Given the description of an element on the screen output the (x, y) to click on. 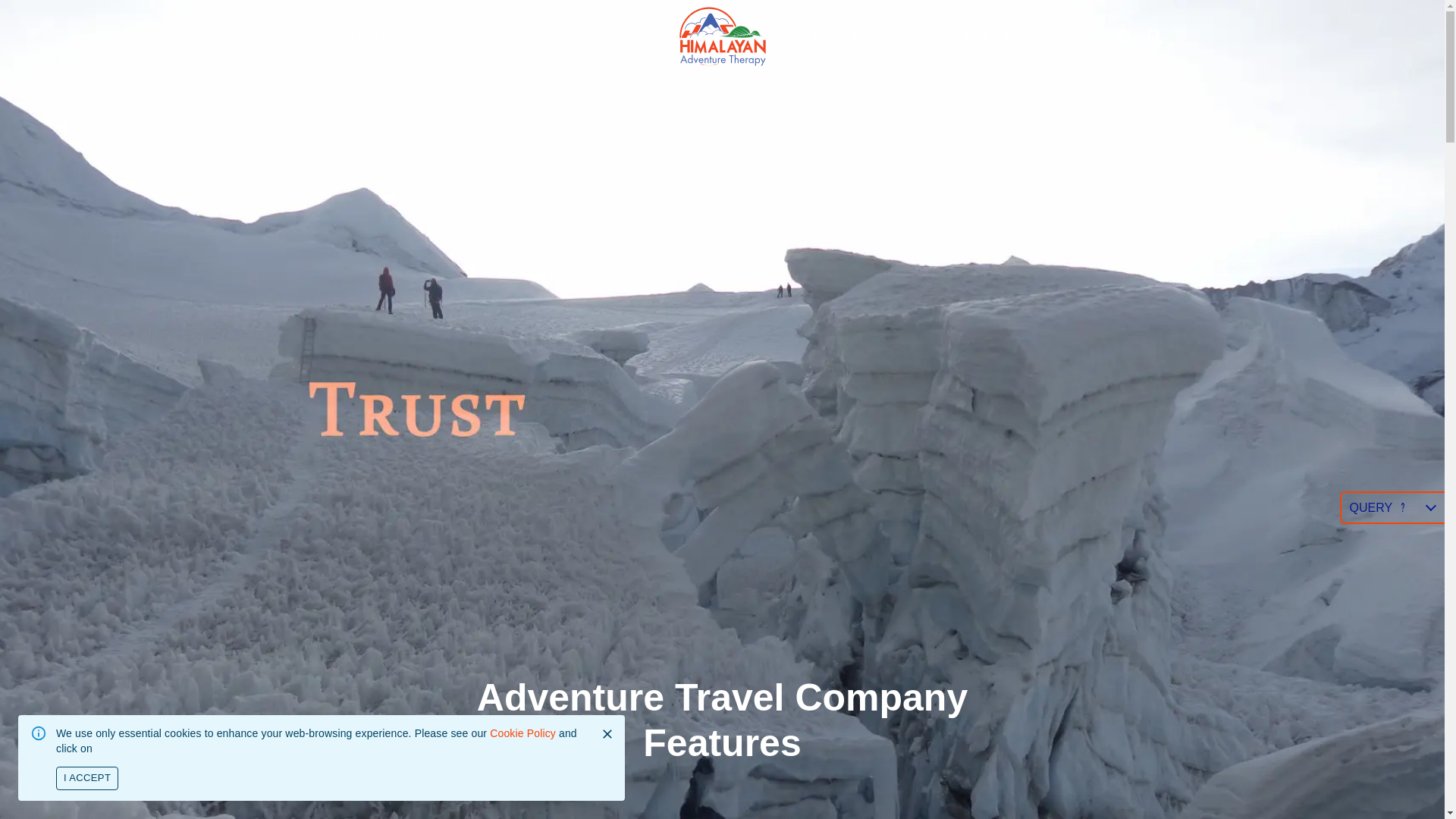
Destinations (395, 35)
Close (606, 733)
Travel Styles (510, 35)
